Given the description of an element on the screen output the (x, y) to click on. 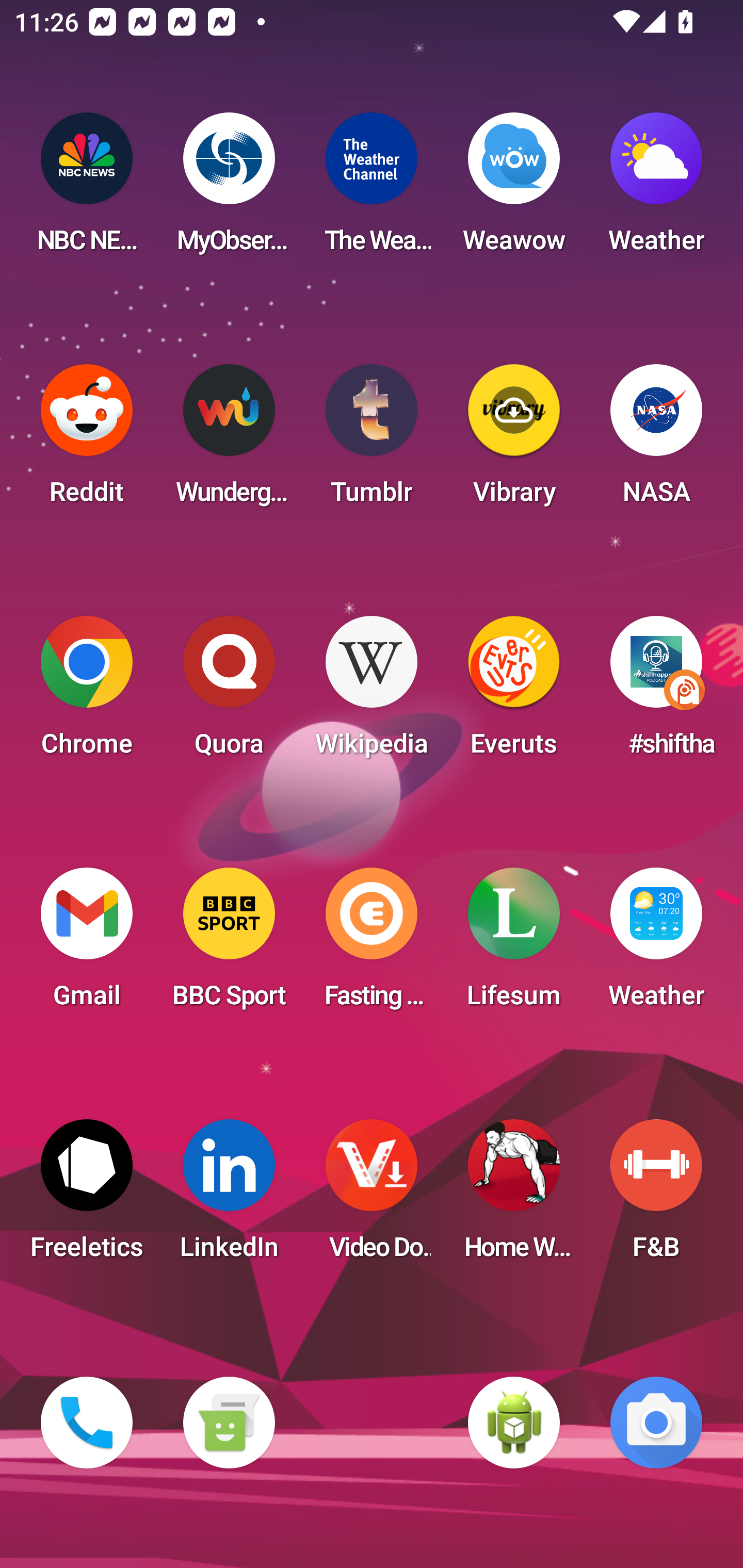
NBC NEWS (86, 188)
MyObservatory (228, 188)
The Weather Channel (371, 188)
Weawow (513, 188)
Weather (656, 188)
Reddit (86, 440)
Wunderground (228, 440)
Tumblr (371, 440)
Vibrary (513, 440)
NASA (656, 440)
Chrome (86, 692)
Quora (228, 692)
Wikipedia (371, 692)
Everuts (513, 692)
#shifthappens in the Digital Workplace Podcast (656, 692)
Gmail (86, 943)
BBC Sport (228, 943)
Fasting Coach (371, 943)
Lifesum (513, 943)
Weather (656, 943)
Freeletics (86, 1195)
LinkedIn (228, 1195)
Video Downloader & Ace Player (371, 1195)
Home Workout (513, 1195)
F&B (656, 1195)
Phone (86, 1422)
Messaging (228, 1422)
WebView Browser Tester (513, 1422)
Camera (656, 1422)
